Given the description of an element on the screen output the (x, y) to click on. 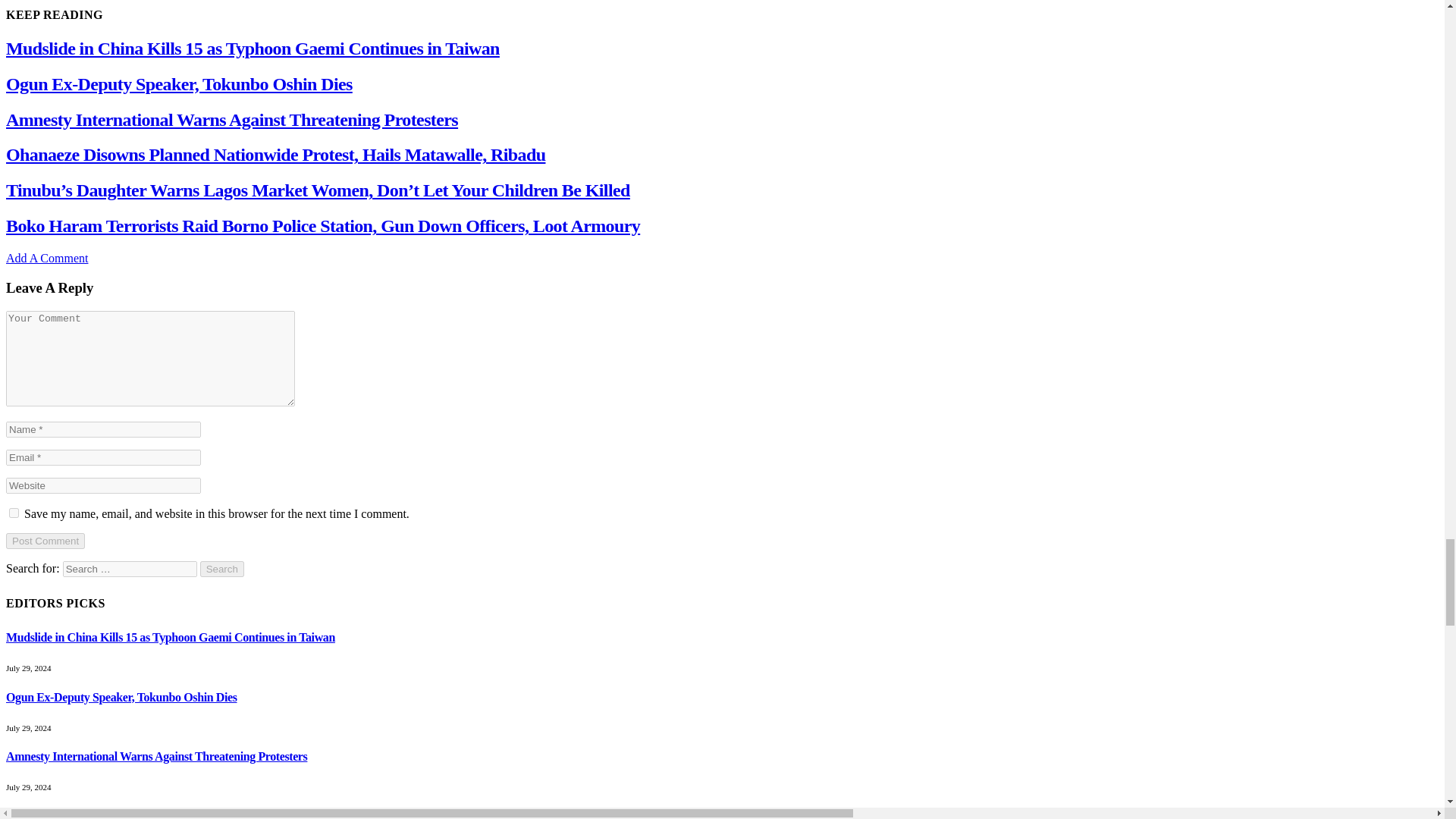
Search (222, 569)
Search (222, 569)
Post Comment (44, 540)
yes (13, 512)
